Given the description of an element on the screen output the (x, y) to click on. 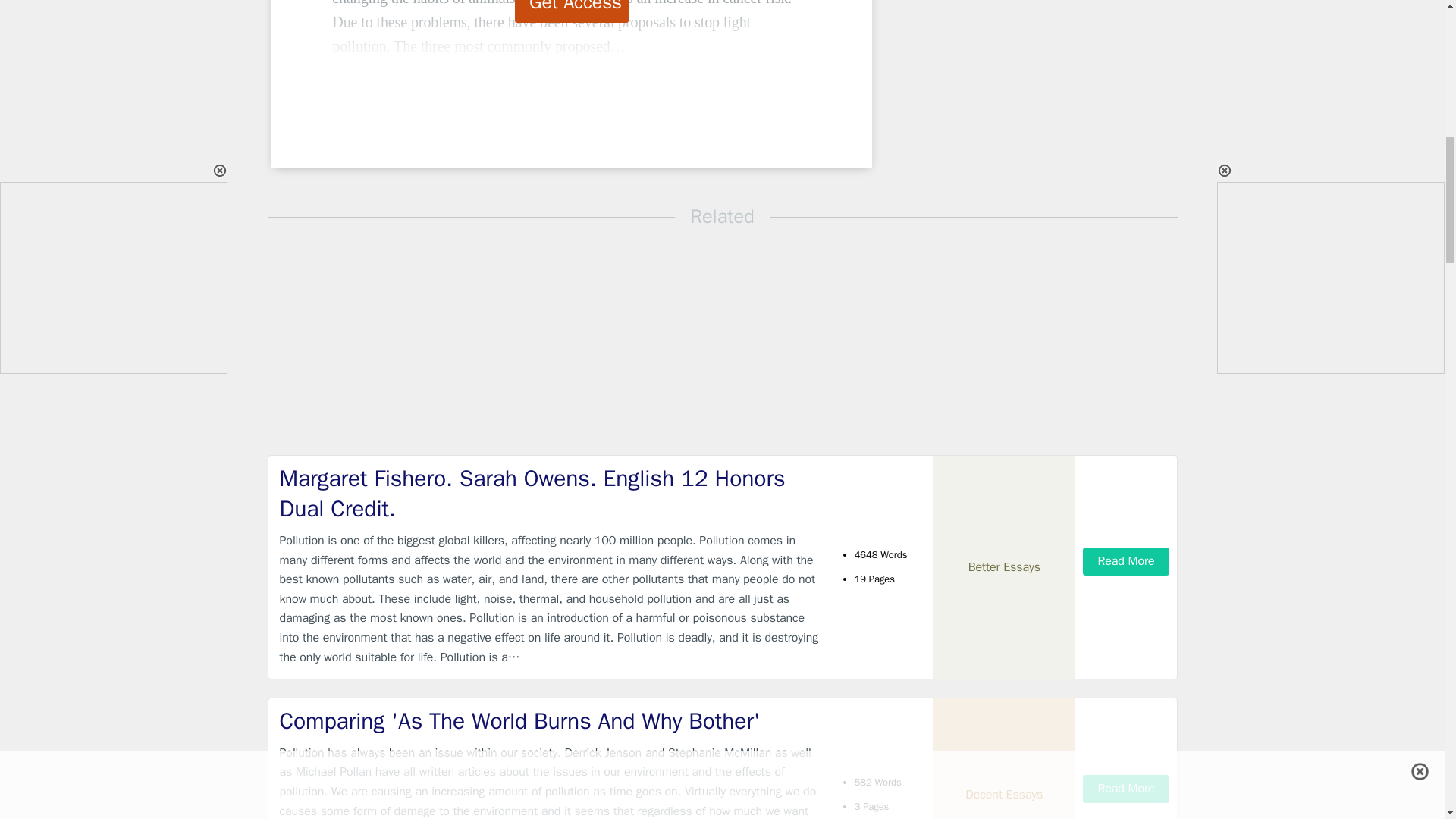
Comparing 'As The World Burns And Why Bother' (548, 721)
Get Access (571, 11)
Read More (1126, 561)
Read More (1126, 788)
3rd party ad content (997, 90)
